Given the description of an element on the screen output the (x, y) to click on. 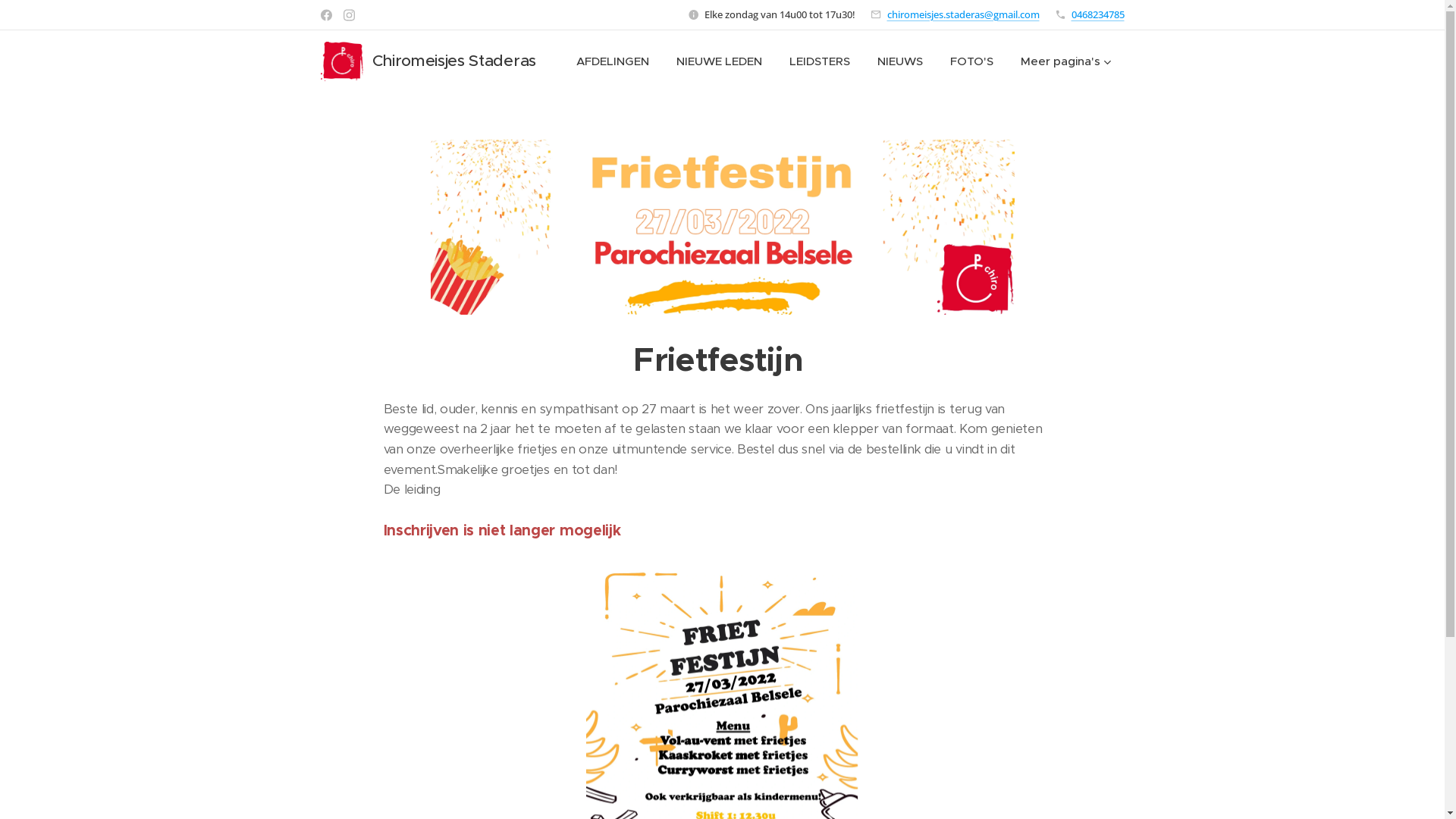
0468234785 Element type: text (1096, 14)
AFDELINGEN Element type: text (612, 61)
FOTO'S Element type: text (970, 61)
Facebook Element type: hover (325, 15)
LEIDSTERS Element type: text (818, 61)
Meer pagina's Element type: text (1065, 61)
NIEUWE LEDEN Element type: text (718, 61)
NIEUWS Element type: text (898, 61)
Chiromeisjes Staderas Element type: text (429, 61)
chiromeisjes.staderas@gmail.com Element type: text (963, 14)
Instagram Element type: hover (348, 15)
